Given the description of an element on the screen output the (x, y) to click on. 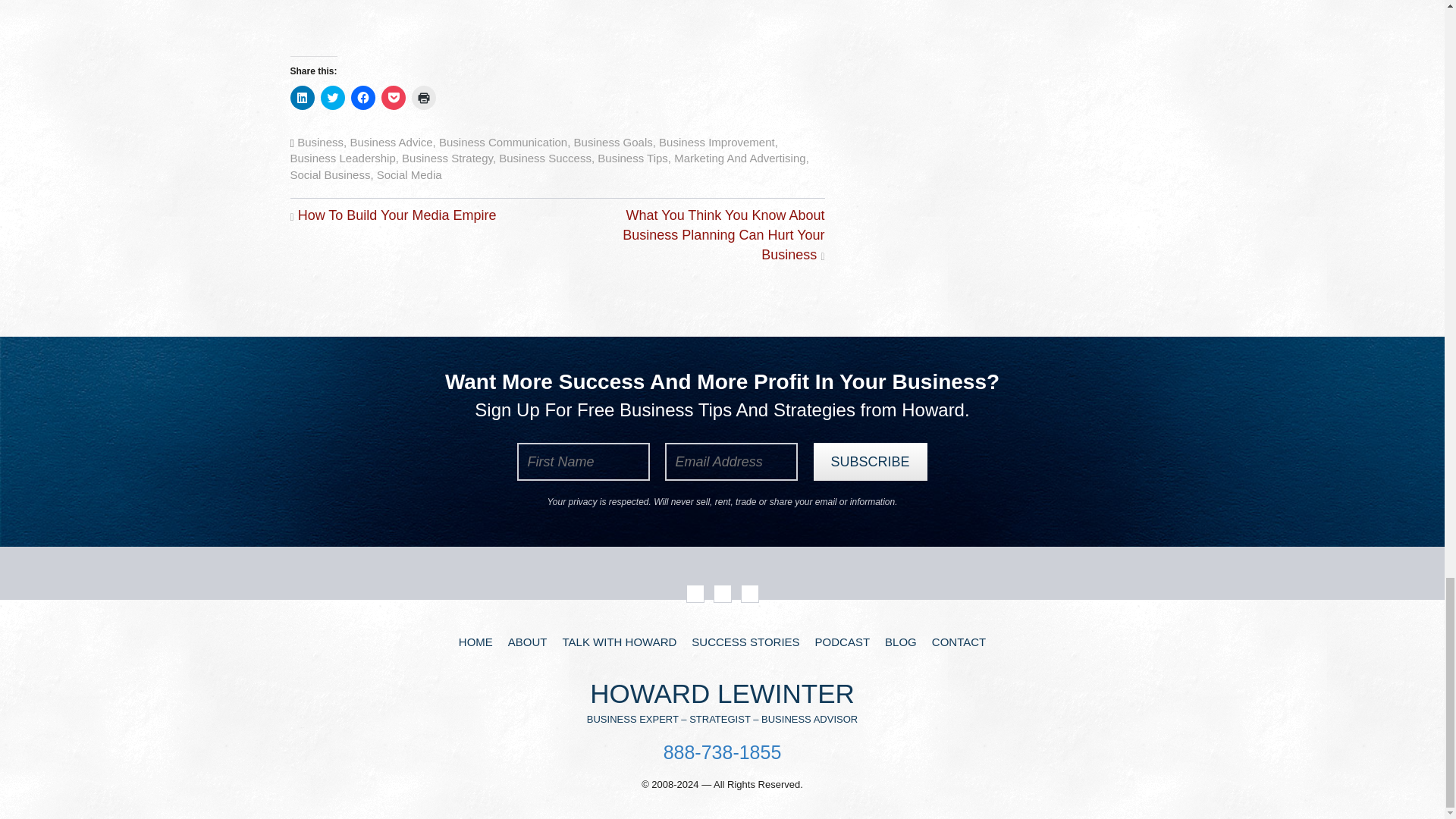
Click to share on Pocket (392, 97)
Social Business (329, 174)
Marketing And Advertising (739, 157)
Business (320, 141)
Business Goals (612, 141)
How To Build Your Media Empire (397, 215)
Business Improvement (716, 141)
Social Media (409, 174)
Business Strategy (447, 157)
Subscribe (869, 461)
Business Communication (503, 141)
Click to share on Twitter (331, 97)
Business Success (545, 157)
Click to share on LinkedIn (301, 97)
